Given the description of an element on the screen output the (x, y) to click on. 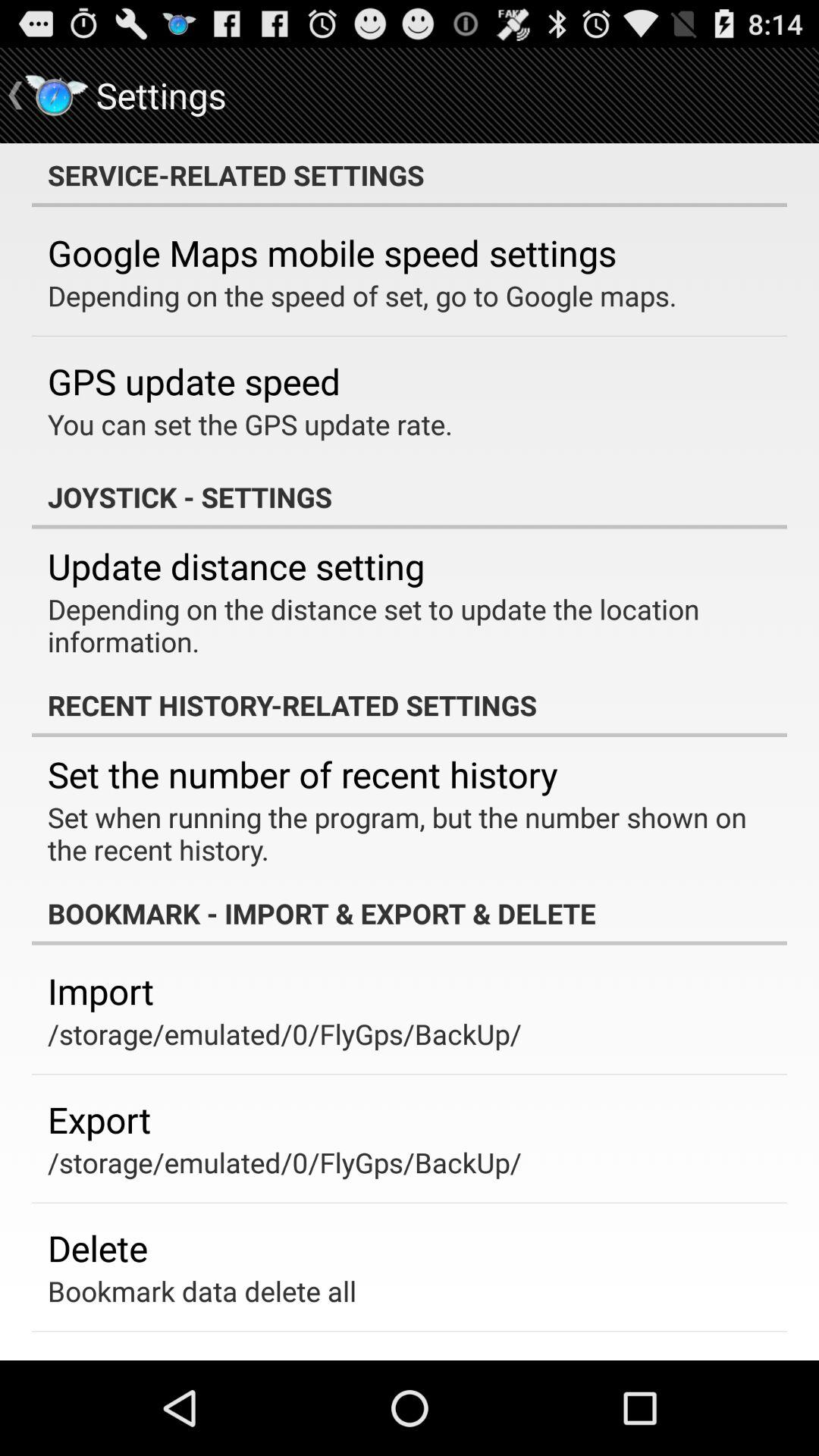
flip to the set when running (399, 833)
